Given the description of an element on the screen output the (x, y) to click on. 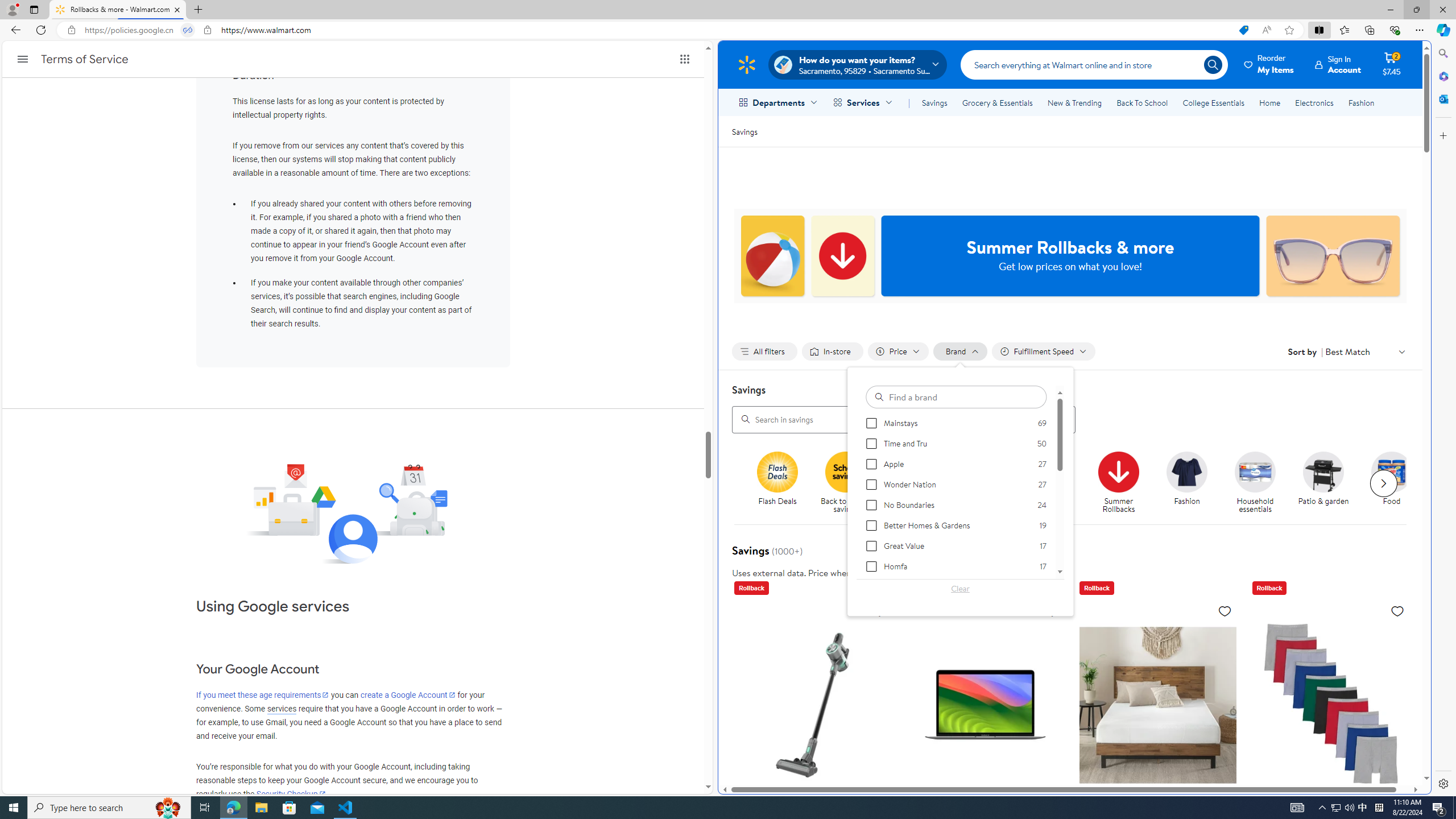
Back to School savings (845, 471)
Patio & garden (1328, 483)
Filter by Brand not applied, activate to change (960, 351)
$20 and under $20 & under (981, 478)
Filter by In-store (831, 351)
Sort by Best Match (1366, 351)
Get it today (1054, 483)
